Given the description of an element on the screen output the (x, y) to click on. 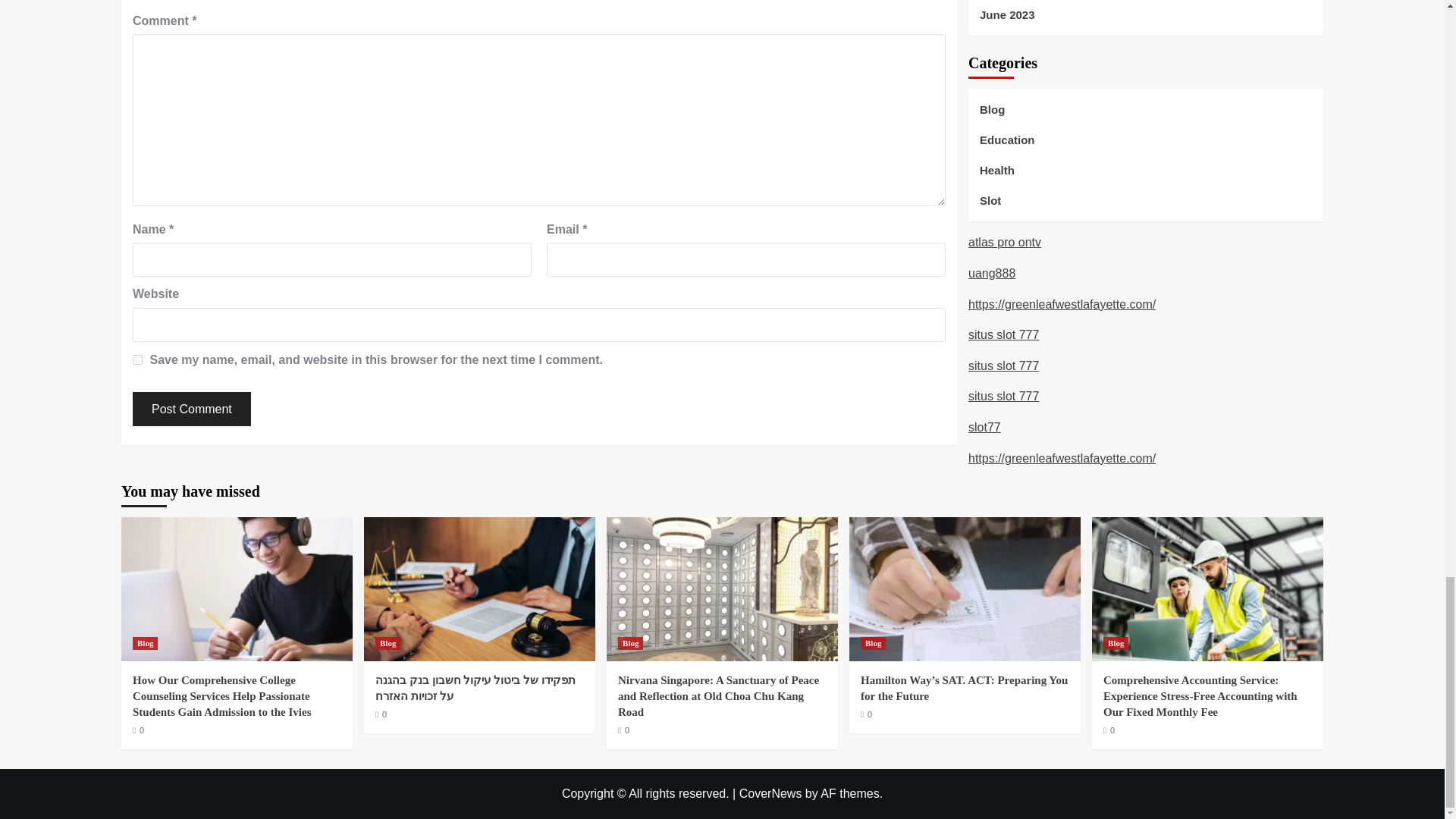
Post Comment (191, 408)
Post Comment (191, 408)
yes (137, 359)
